Given the description of an element on the screen output the (x, y) to click on. 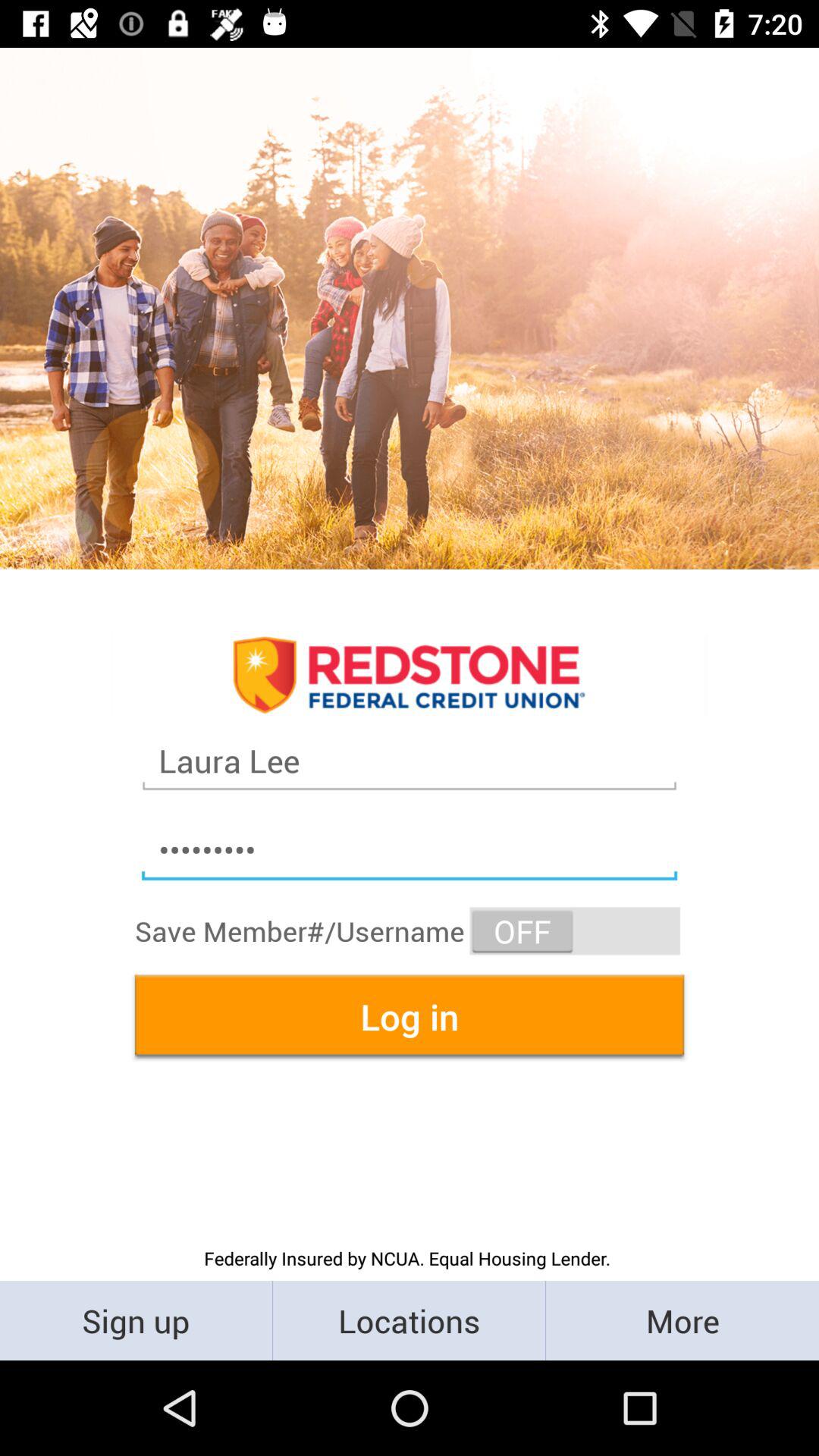
choose the locations item (409, 1320)
